Given the description of an element on the screen output the (x, y) to click on. 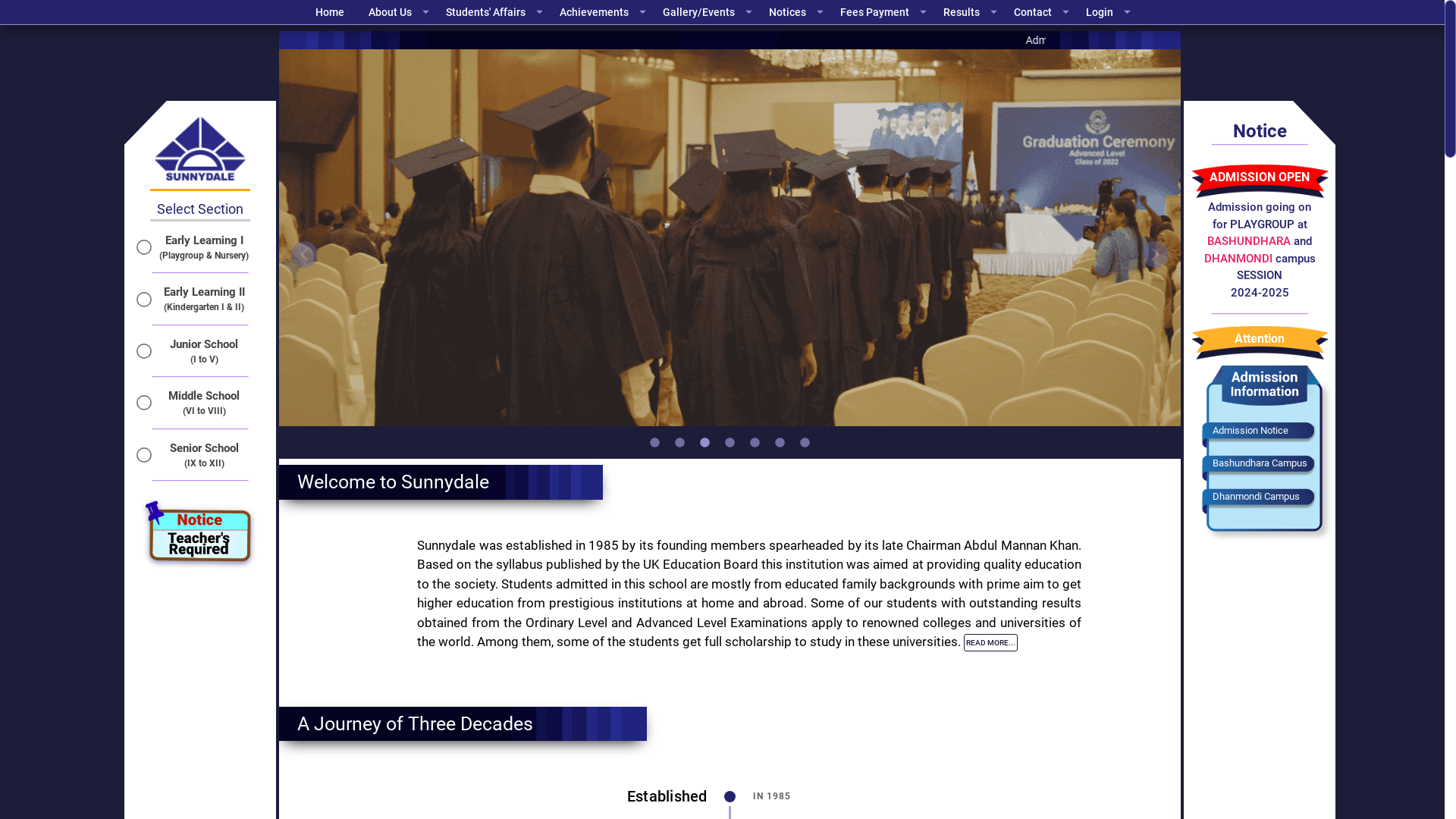
chevron_left Element type: text (304, 254)
BASHUNDHARA Element type: text (1248, 240)
lens Element type: text (654, 442)
lens Element type: text (704, 442)
Admission Info Element type: text (1235, 386)
lens Element type: text (804, 442)
lens Element type: text (729, 442)
lens Element type: text (754, 442)
Gallery/Events
arrow_drop_down Element type: text (709, 12)
Notices
arrow_drop_down Element type: text (798, 12)
Section Info Element type: text (277, 386)
Fees Payment
arrow_drop_down Element type: text (885, 12)
Admission Notice Element type: text (1250, 430)
Results
arrow_drop_down Element type: text (972, 12)
READ MORE... Element type: text (990, 642)
Home Element type: text (332, 12)
Login
arrow_drop_down Element type: text (1110, 12)
lens Element type: text (679, 442)
Students' Affairs
arrow_drop_down Element type: text (496, 12)
DHANMONDI Element type: text (1239, 258)
About Us
arrow_drop_down Element type: text (400, 12)
Bashundhara Campus Element type: text (1259, 461)
lens Element type: text (779, 442)
Contact
arrow_drop_down Element type: text (1043, 12)
Dhanmondi Campus Element type: text (1255, 496)
Achievements
arrow_drop_down Element type: text (604, 12)
chevron_right Element type: text (1155, 254)
